Given the description of an element on the screen output the (x, y) to click on. 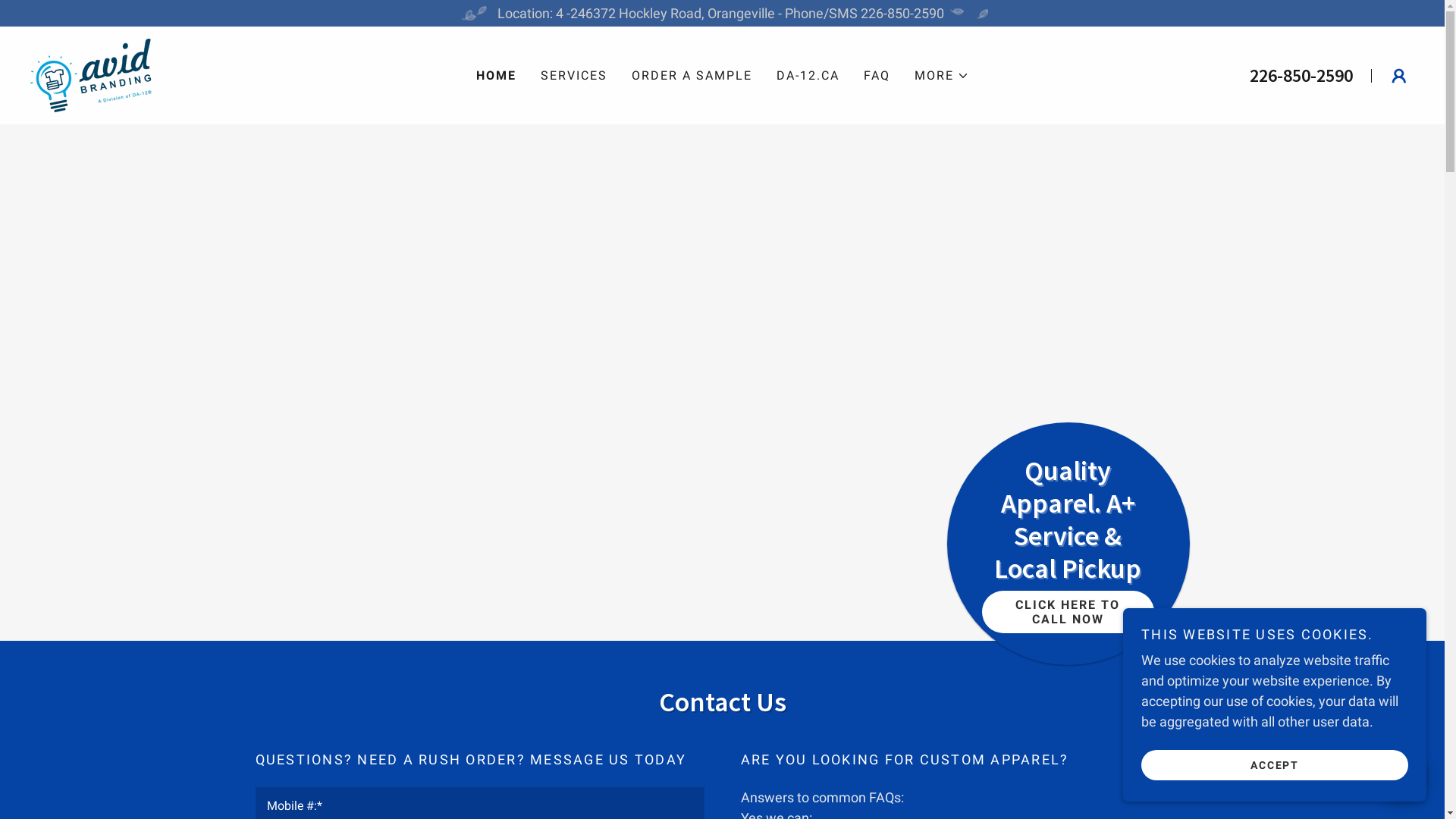
MORE Element type: text (941, 75)
Avid Branding - A Division of DA-12 Element type: hover (90, 73)
HOME Element type: text (496, 75)
SERVICES Element type: text (573, 75)
226-850-2590 Element type: text (1300, 75)
DA-12.CA Element type: text (807, 75)
CLICK HERE TO CALL NOW Element type: text (1067, 611)
FAQ Element type: text (876, 75)
ORDER A SAMPLE Element type: text (691, 75)
ACCEPT Element type: text (1274, 764)
